Given the description of an element on the screen output the (x, y) to click on. 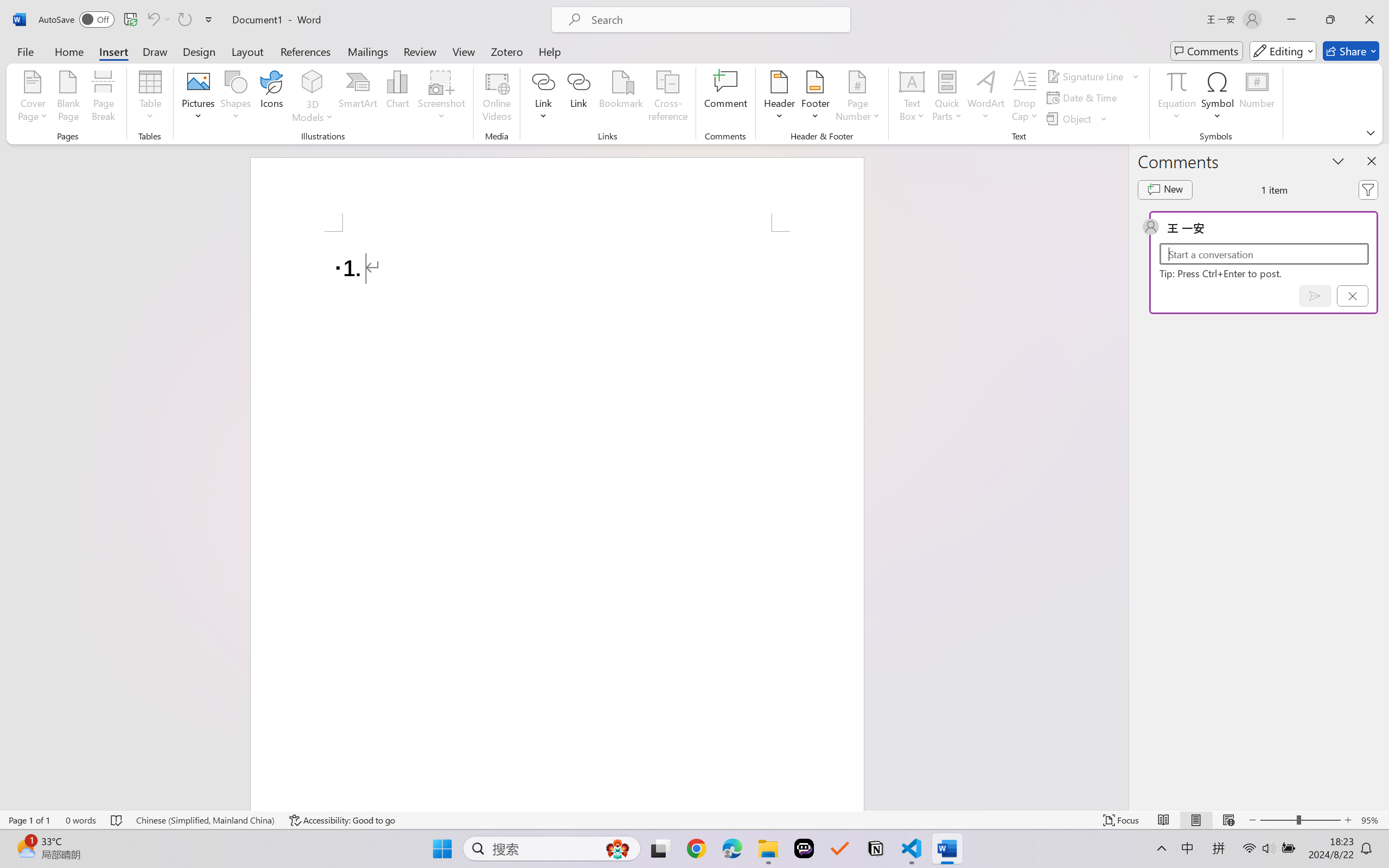
Language Chinese (Simplified, Mainland China) (205, 819)
Shapes (235, 97)
Signature Line (1093, 75)
3D Models (312, 81)
Screenshot (441, 97)
Header (779, 97)
Undo Number Default (152, 19)
Zoom 95% (1372, 819)
Cancel (1352, 295)
